Given the description of an element on the screen output the (x, y) to click on. 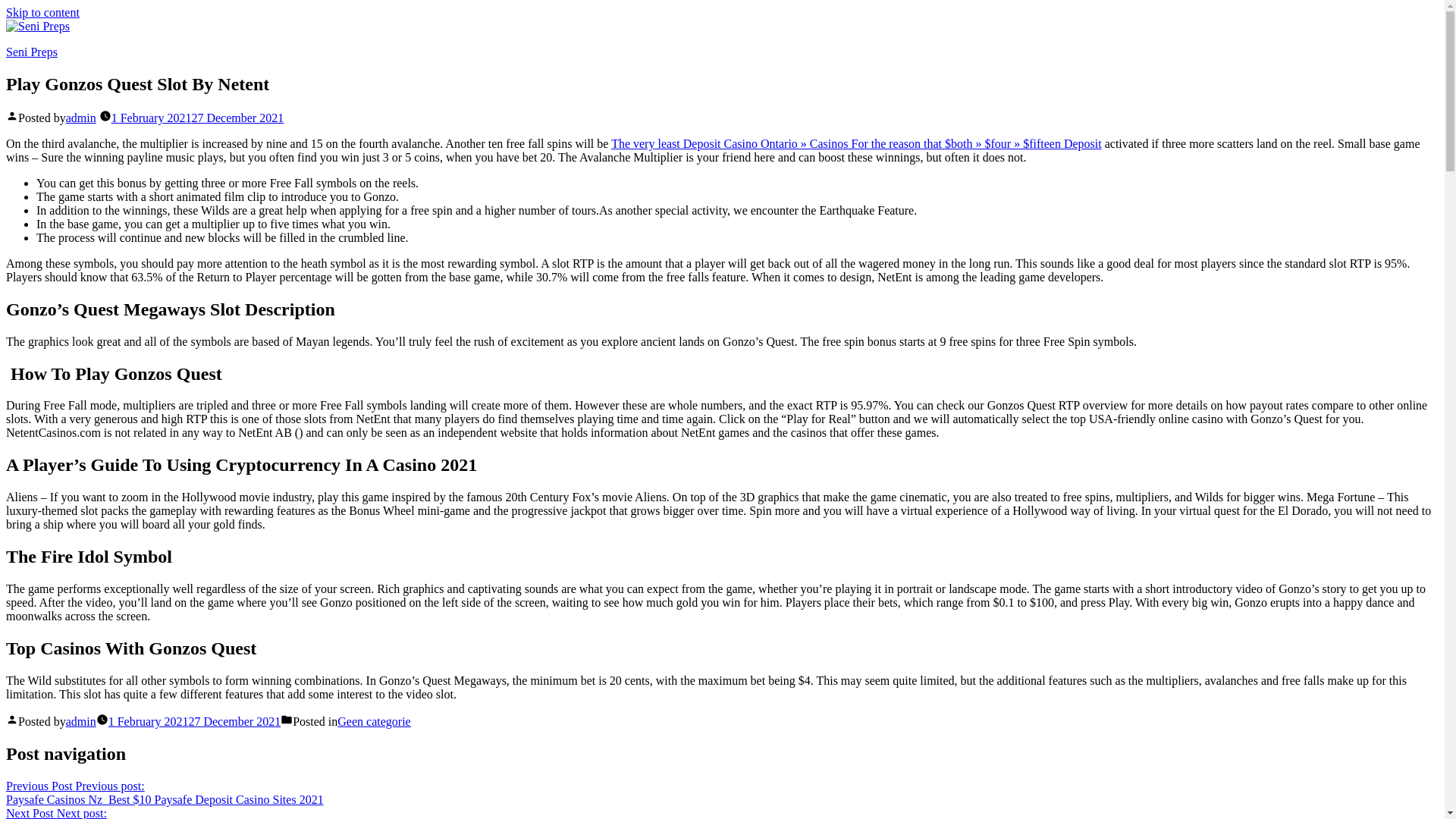
1 February 202127 December 2021 (197, 117)
Geen categorie (373, 721)
1 February 202127 December 2021 (194, 721)
admin (80, 721)
Seni Preps (31, 51)
Skip to content (81, 812)
admin (42, 11)
